Given the description of an element on the screen output the (x, y) to click on. 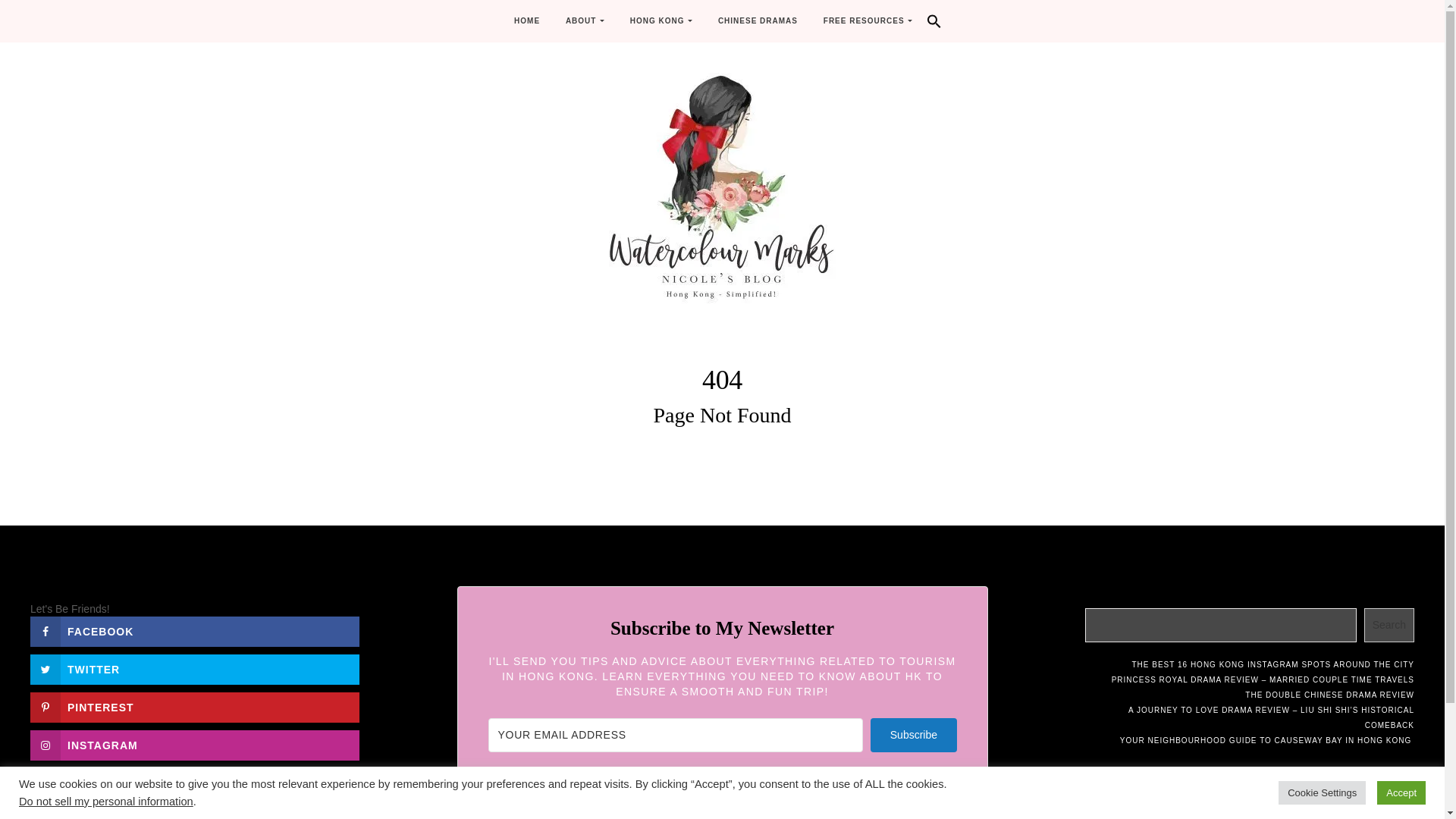
TWITTER (194, 669)
PINTEREST (194, 707)
Follow on Instagram (194, 745)
Built with ConvertKit (722, 808)
Cookie Settings (1321, 792)
Follow on Pinterest (194, 707)
FREE RESOURCES (867, 21)
Hong Kong (660, 21)
Follow on Twitter (194, 669)
DISCLAIMER PAGE (279, 790)
Home (526, 21)
About (584, 21)
ABOUT (584, 21)
Subscribe (913, 735)
INSTAGRAM (194, 745)
